Given the description of an element on the screen output the (x, y) to click on. 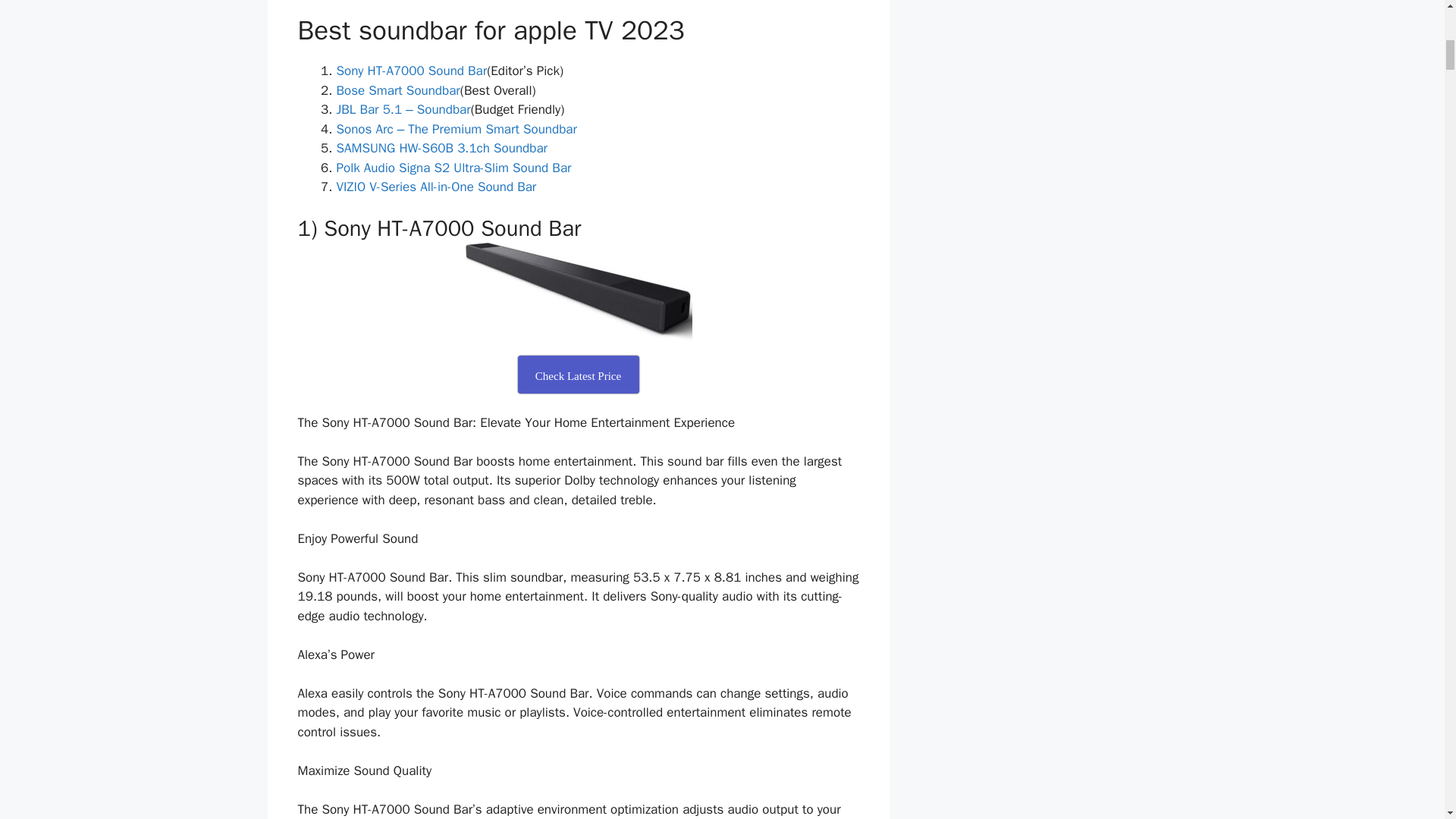
Sony HT-A7000 Sound Bar (411, 70)
Bose Smart Soundbar (398, 90)
